Given the description of an element on the screen output the (x, y) to click on. 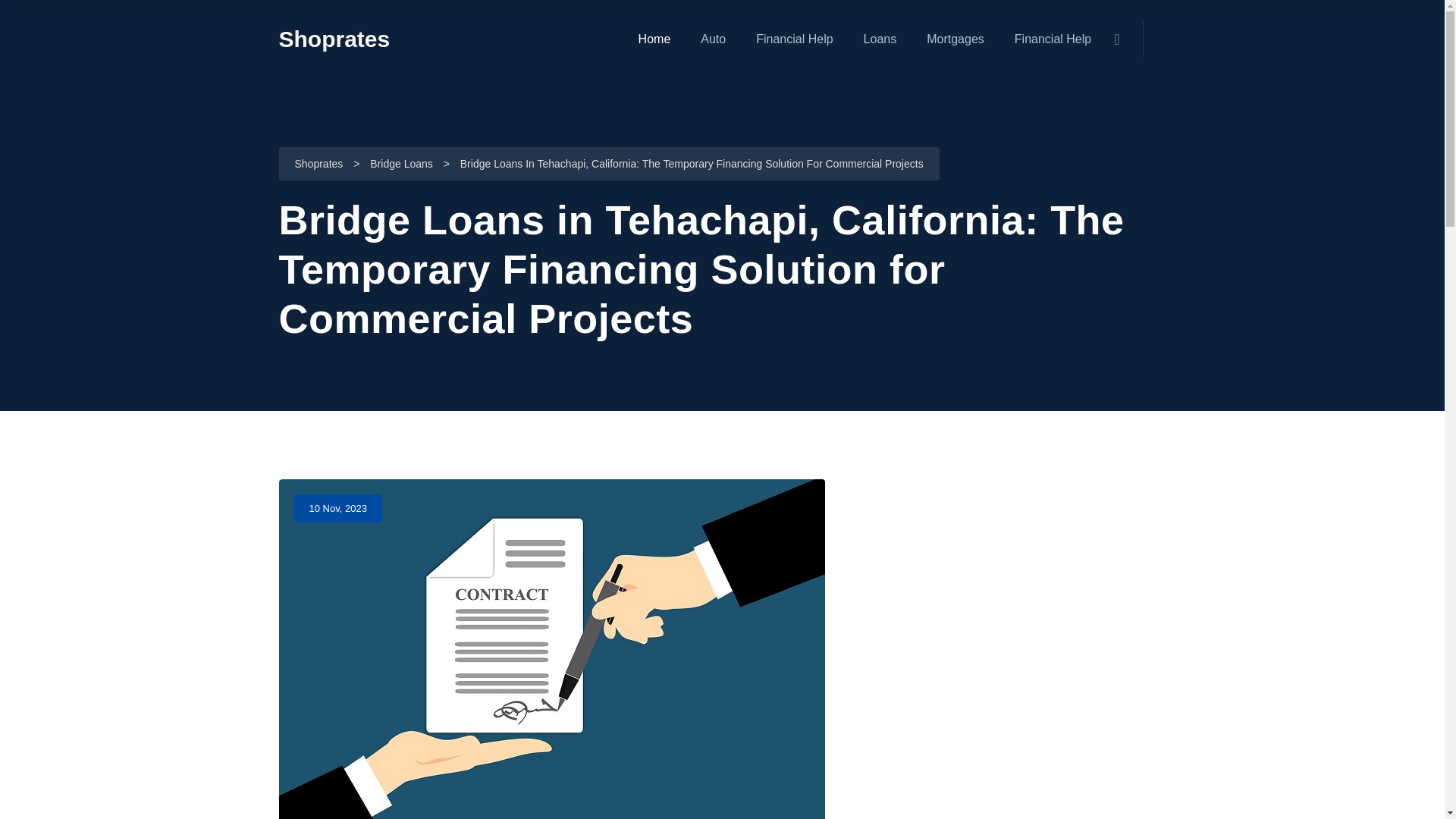
Shoprates (334, 38)
Mortgages (955, 39)
Go to the Bridge Loans Category archives. (400, 164)
Home (655, 39)
Financial Help (793, 39)
Financial Help (1052, 39)
Auto (712, 39)
Loans (879, 39)
Go to Shoprates. (318, 164)
